Given the description of an element on the screen output the (x, y) to click on. 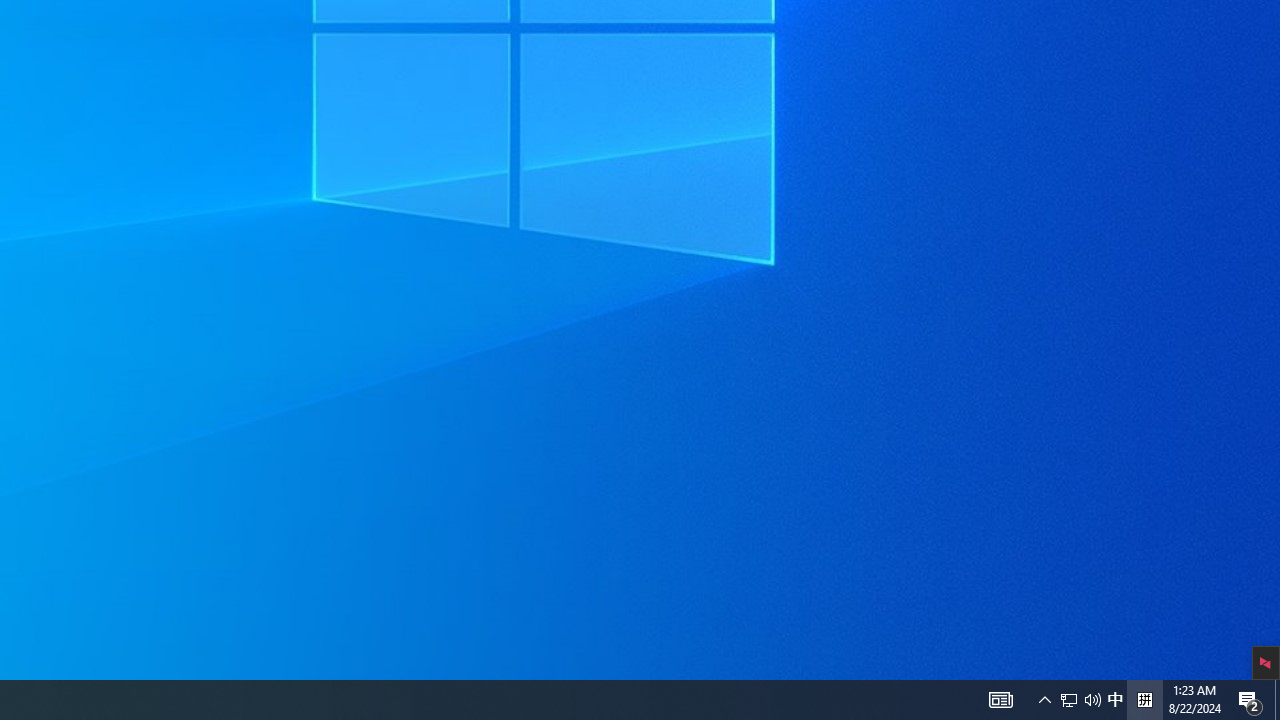
Notification Chevron (1044, 699)
Q2790: 100% (1115, 699)
Tray Input Indicator - Chinese (Simplified, China) (1092, 699)
Show desktop (1144, 699)
AutomationID: 4105 (1069, 699)
Action Center, 2 new notifications (1277, 699)
User Promoted Notification Area (1000, 699)
